Given the description of an element on the screen output the (x, y) to click on. 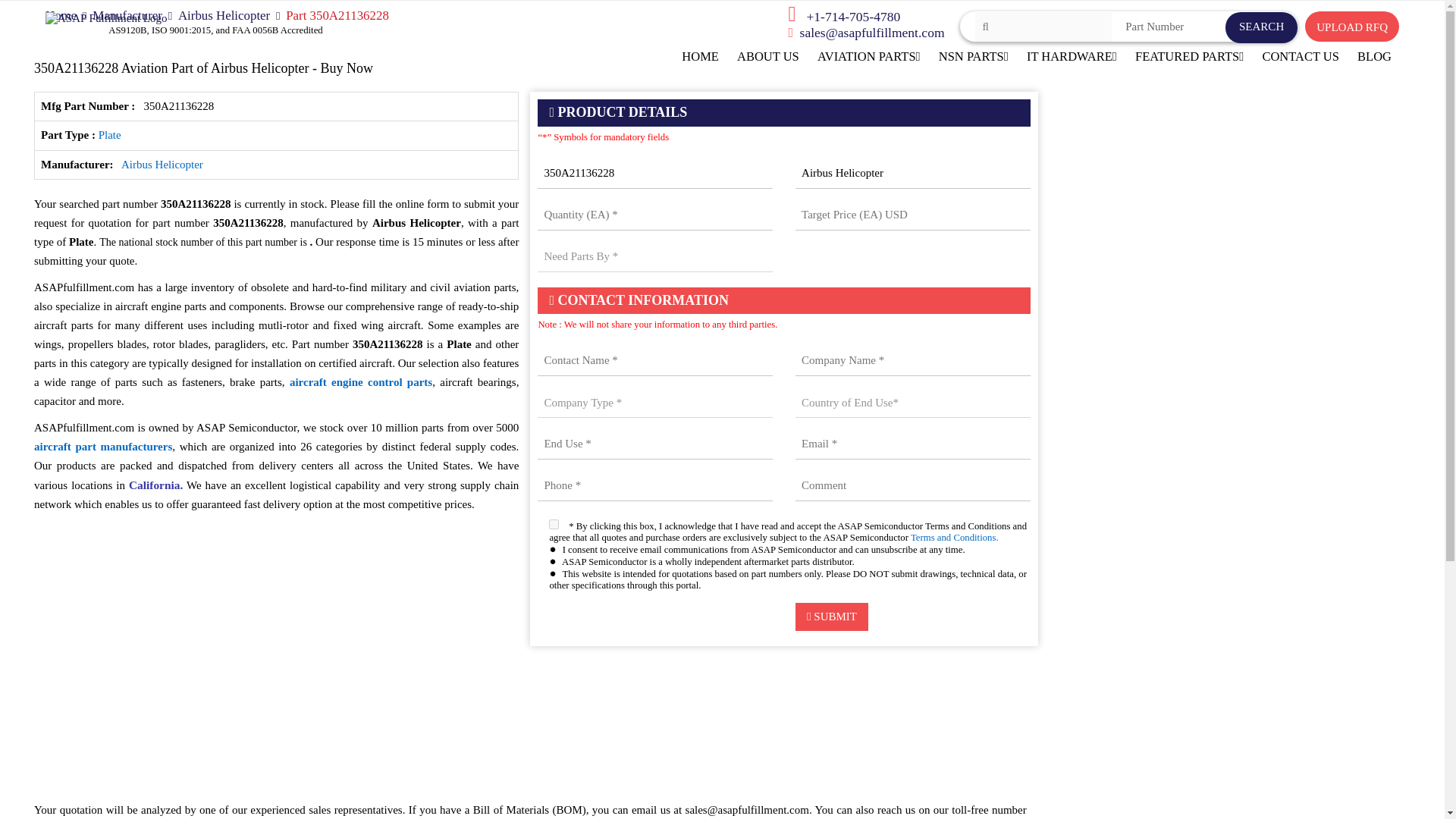
ABOUT US (767, 56)
Airbus Helicopter (912, 173)
HOME (700, 56)
AVIATION PARTS (868, 56)
IT HARDWARE (1071, 56)
on (553, 524)
FEATURED PARTS (1188, 56)
UPLOAD RFQ (1351, 26)
disclaimer (529, 717)
350A21136228 (655, 173)
